Given the description of an element on the screen output the (x, y) to click on. 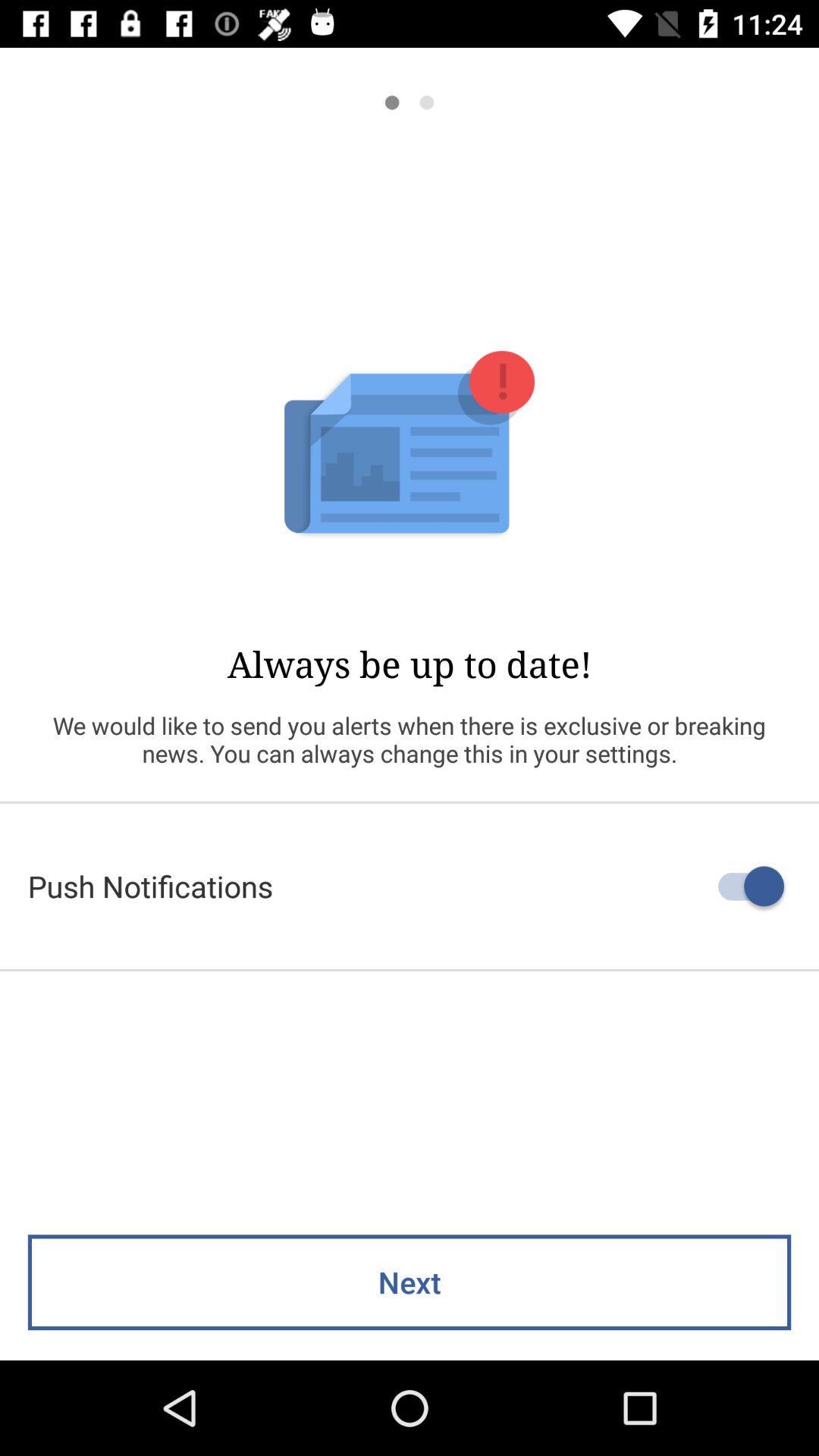
swipe until the next item (409, 1282)
